Given the description of an element on the screen output the (x, y) to click on. 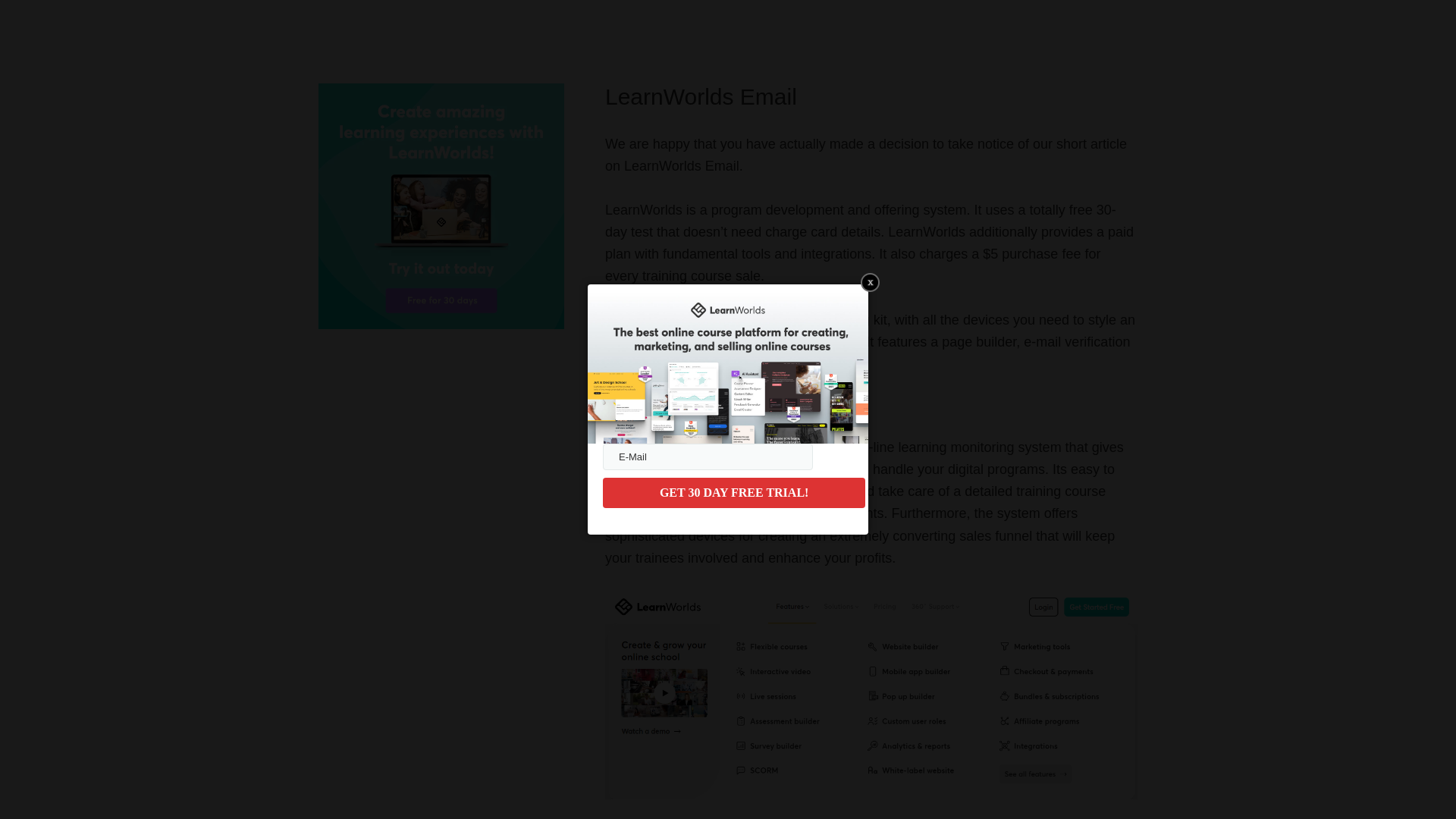
GET 30 DAY FREE TRIAL! (733, 492)
GET 30 DAY FREE TRIAL! (733, 492)
